Given the description of an element on the screen output the (x, y) to click on. 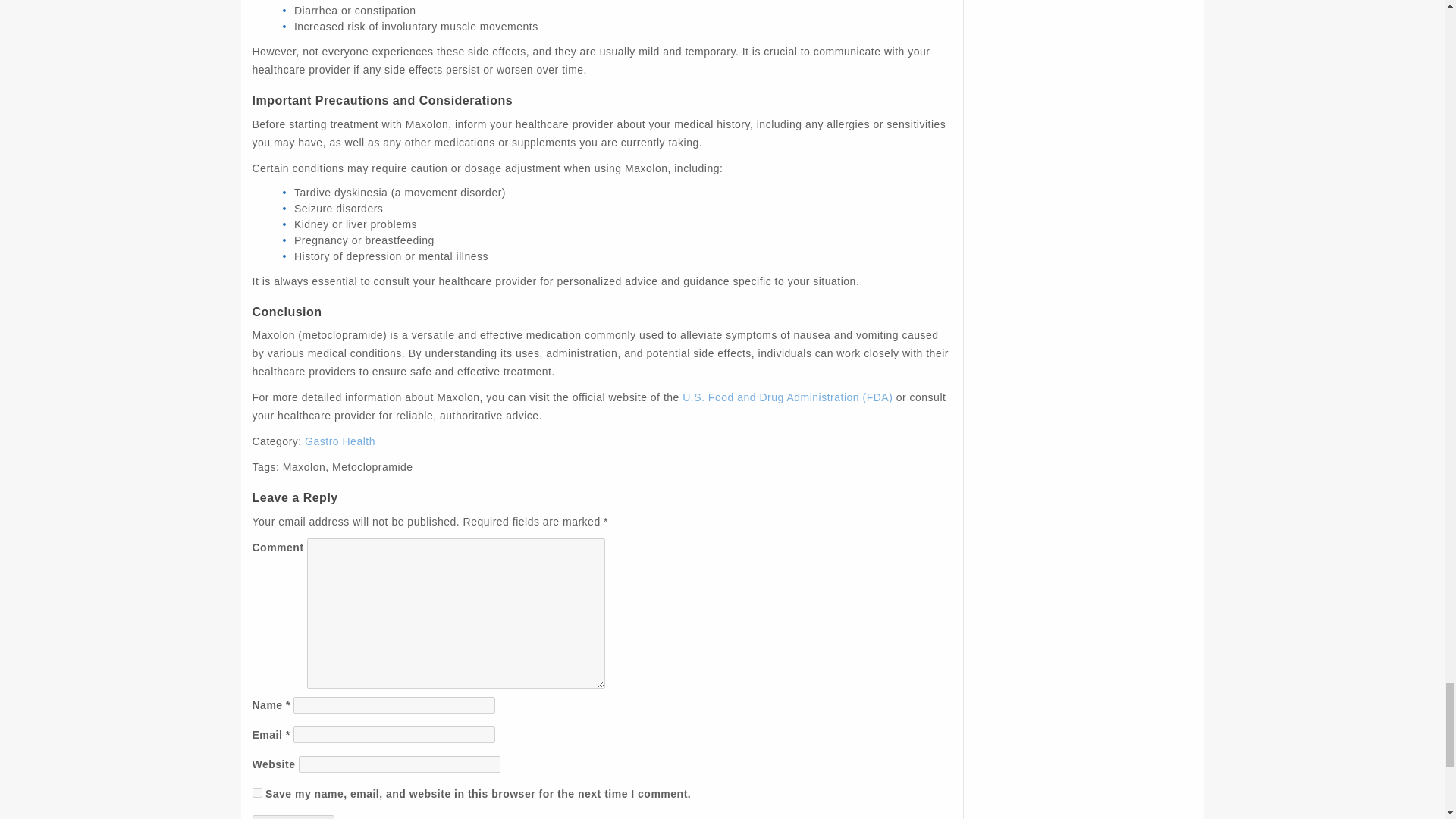
Post Comment (292, 816)
yes (256, 792)
Post Comment (292, 816)
Gastro Health (339, 440)
